Given the description of an element on the screen output the (x, y) to click on. 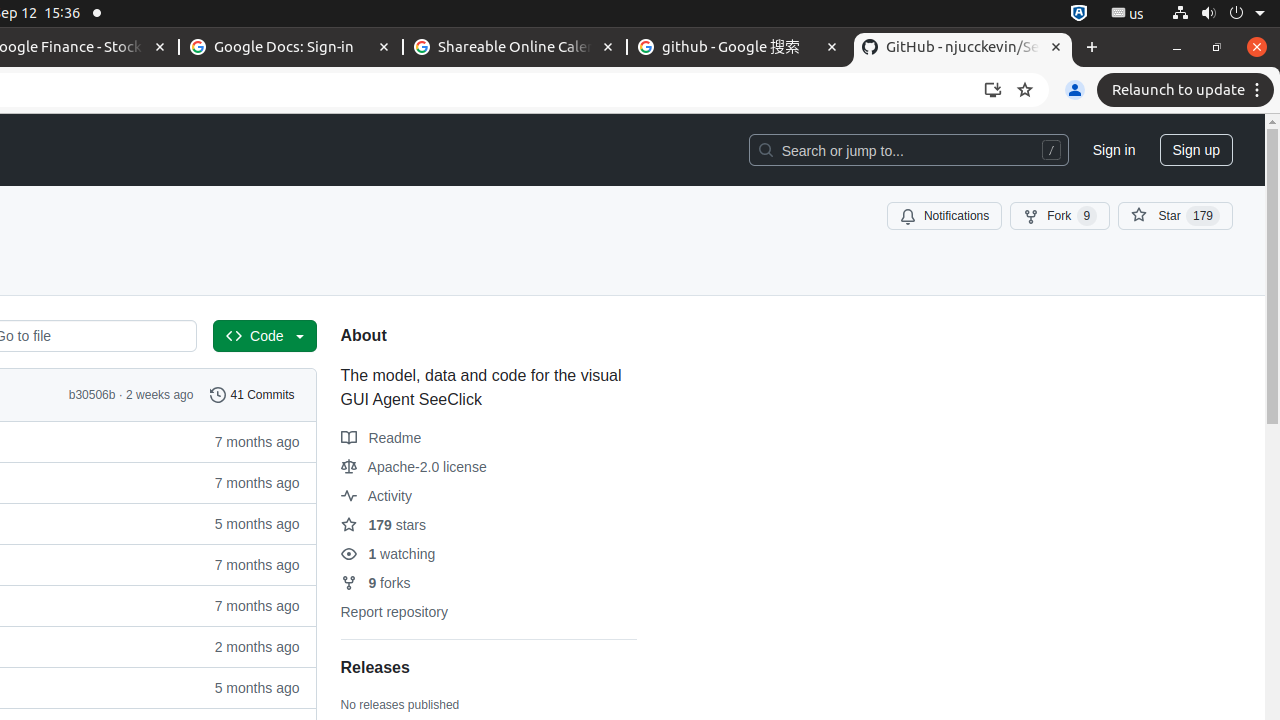
You must be signed in to change notification settings Element type: link (944, 215)
You must be signed in to star a repository Element type: link (1175, 215)
Releases Element type: link (375, 667)
 Apache-2.0 license Element type: link (413, 466)
System Element type: menu (1218, 13)
